Given the description of an element on the screen output the (x, y) to click on. 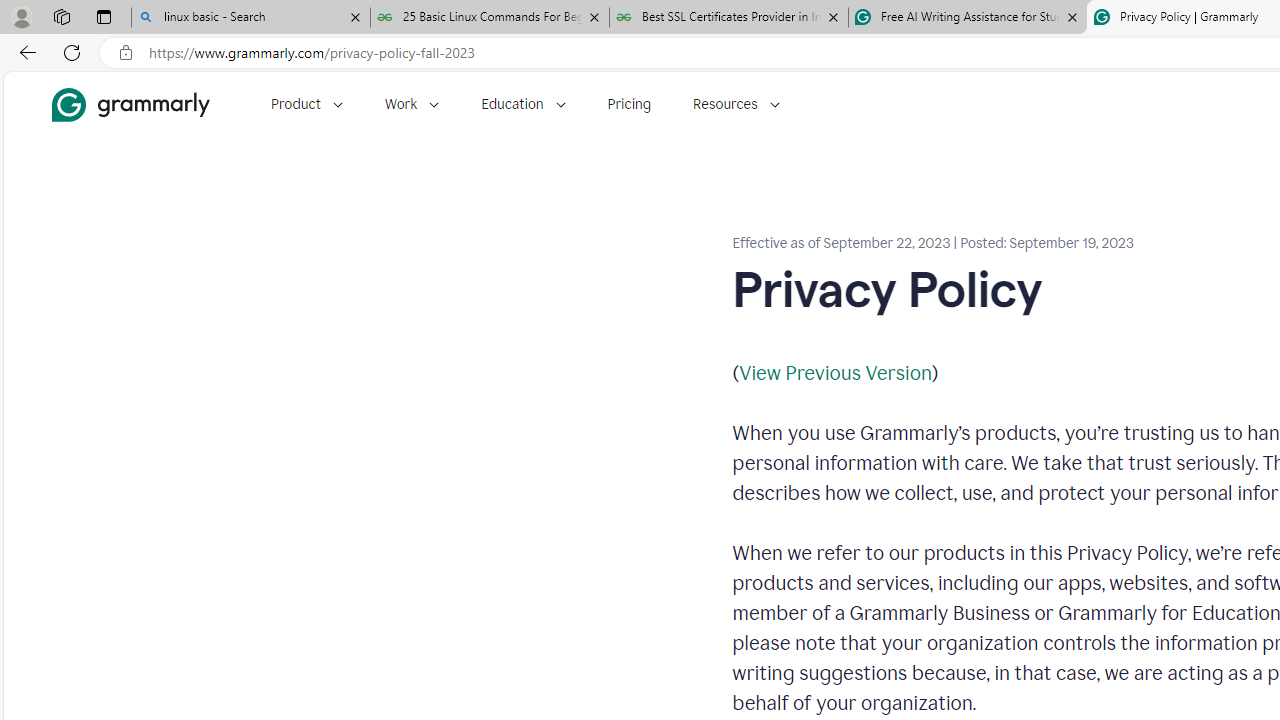
Free AI Writing Assistance for Students | Grammarly (967, 17)
Product (306, 104)
Education (523, 104)
Grammarly Home (130, 104)
linux basic - Search (250, 17)
Education (523, 103)
Product (306, 103)
Work (412, 103)
Pricing (629, 104)
Work (412, 104)
Best SSL Certificates Provider in India - GeeksforGeeks (729, 17)
View Previous Version (834, 372)
